Given the description of an element on the screen output the (x, y) to click on. 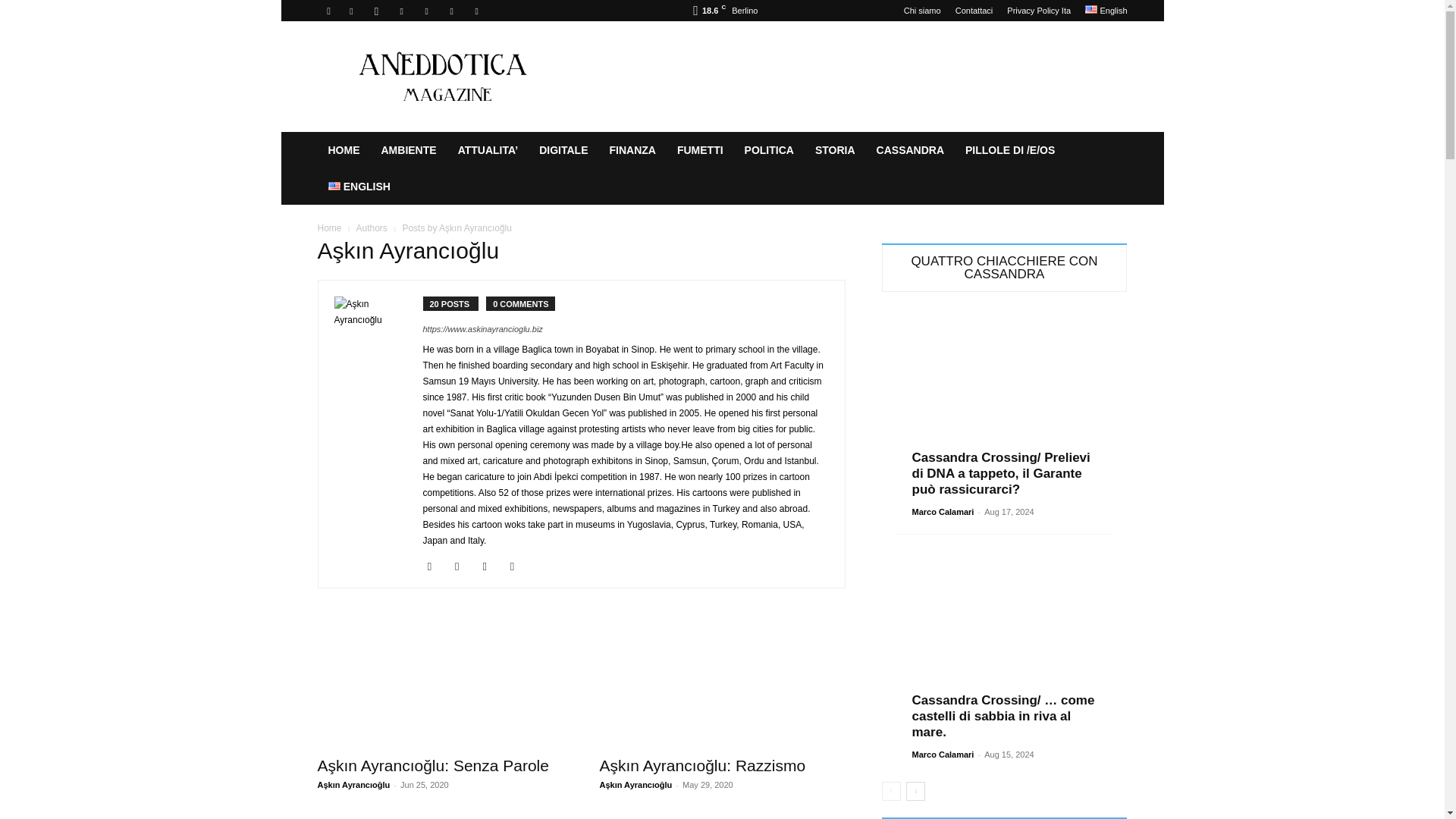
FINANZA (632, 149)
HOME (343, 149)
DIGITALE (563, 149)
Instagram (376, 10)
AMBIENTE (407, 149)
Aneddotica  Magazine (445, 76)
Chi siamo (922, 10)
Twitter (476, 10)
Privacy Policy Ita (1038, 10)
RSS (426, 10)
